Given the description of an element on the screen output the (x, y) to click on. 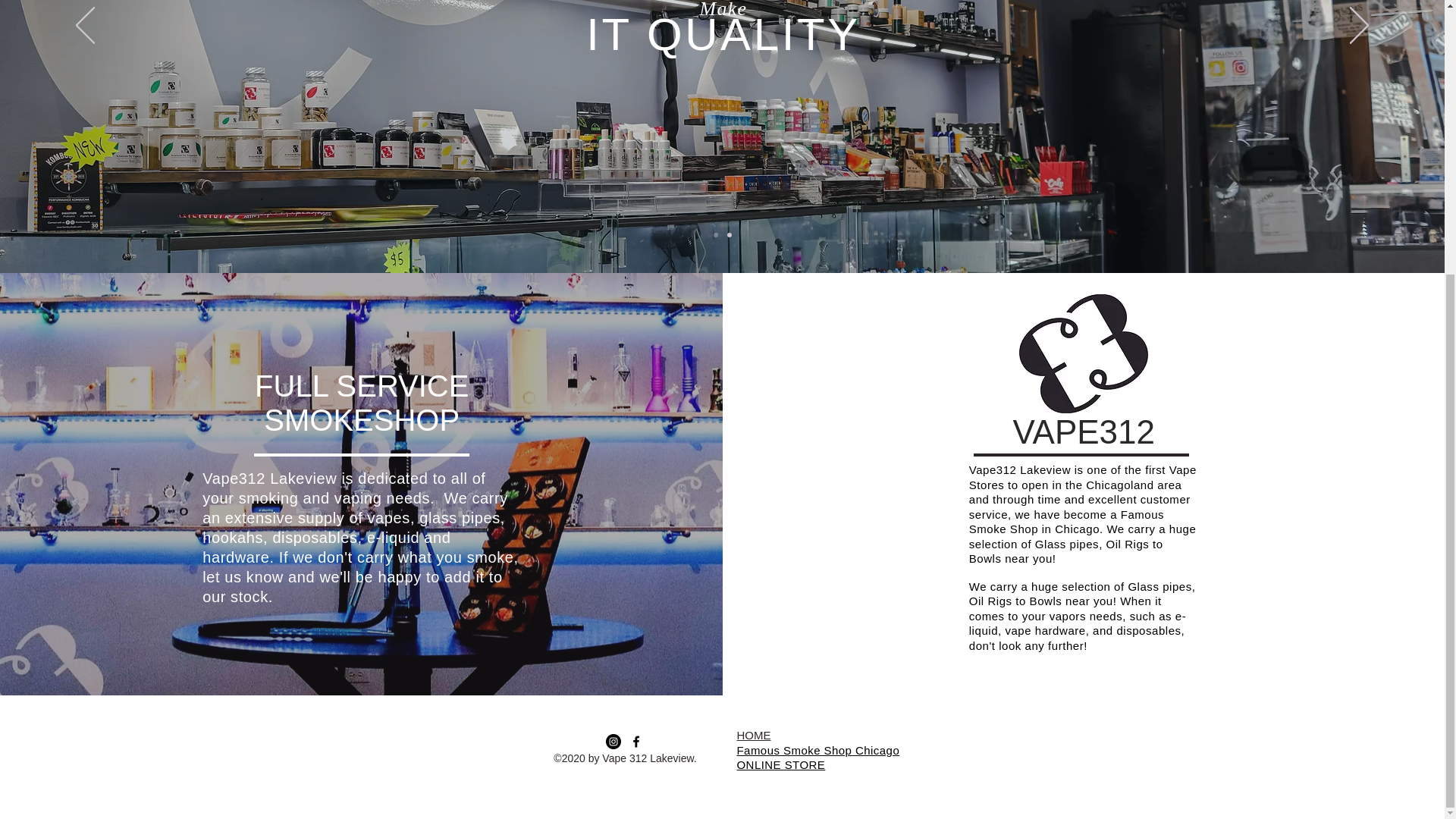
HOME (753, 735)
Famous Smoke Shop Chicago (817, 749)
ONLINE STORE (780, 764)
